Given the description of an element on the screen output the (x, y) to click on. 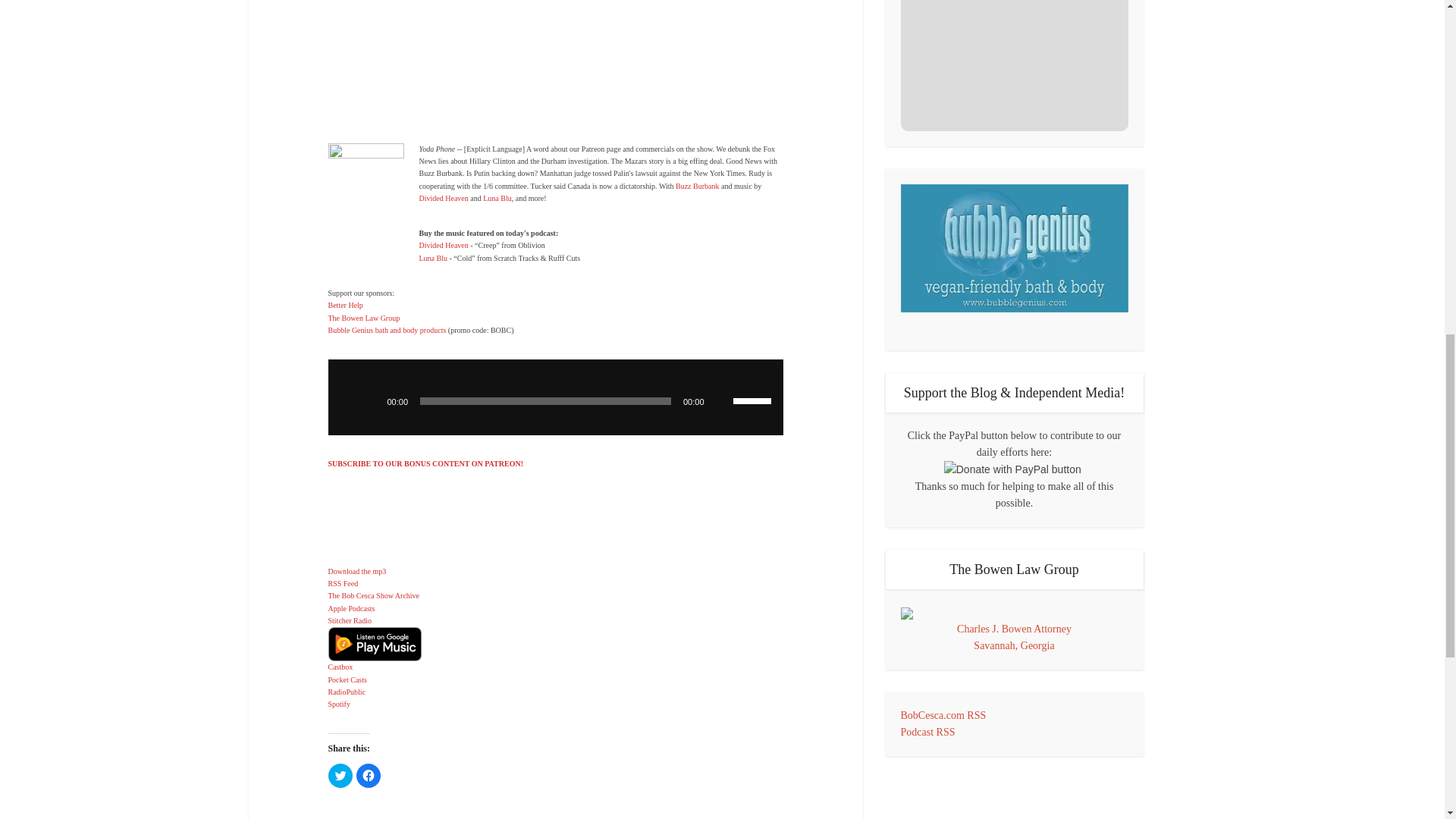
Click to share on Facebook (368, 775)
Better Help (344, 305)
Buzz Burbank (697, 185)
The Bob Cesca Show Archive (373, 595)
Luna Blu (497, 198)
Luna Blu (432, 257)
Bubble Genius bath and body products (386, 329)
Click to share on Twitter (339, 775)
Apple Podcasts (350, 608)
Download the mp3 (356, 571)
